Given the description of an element on the screen output the (x, y) to click on. 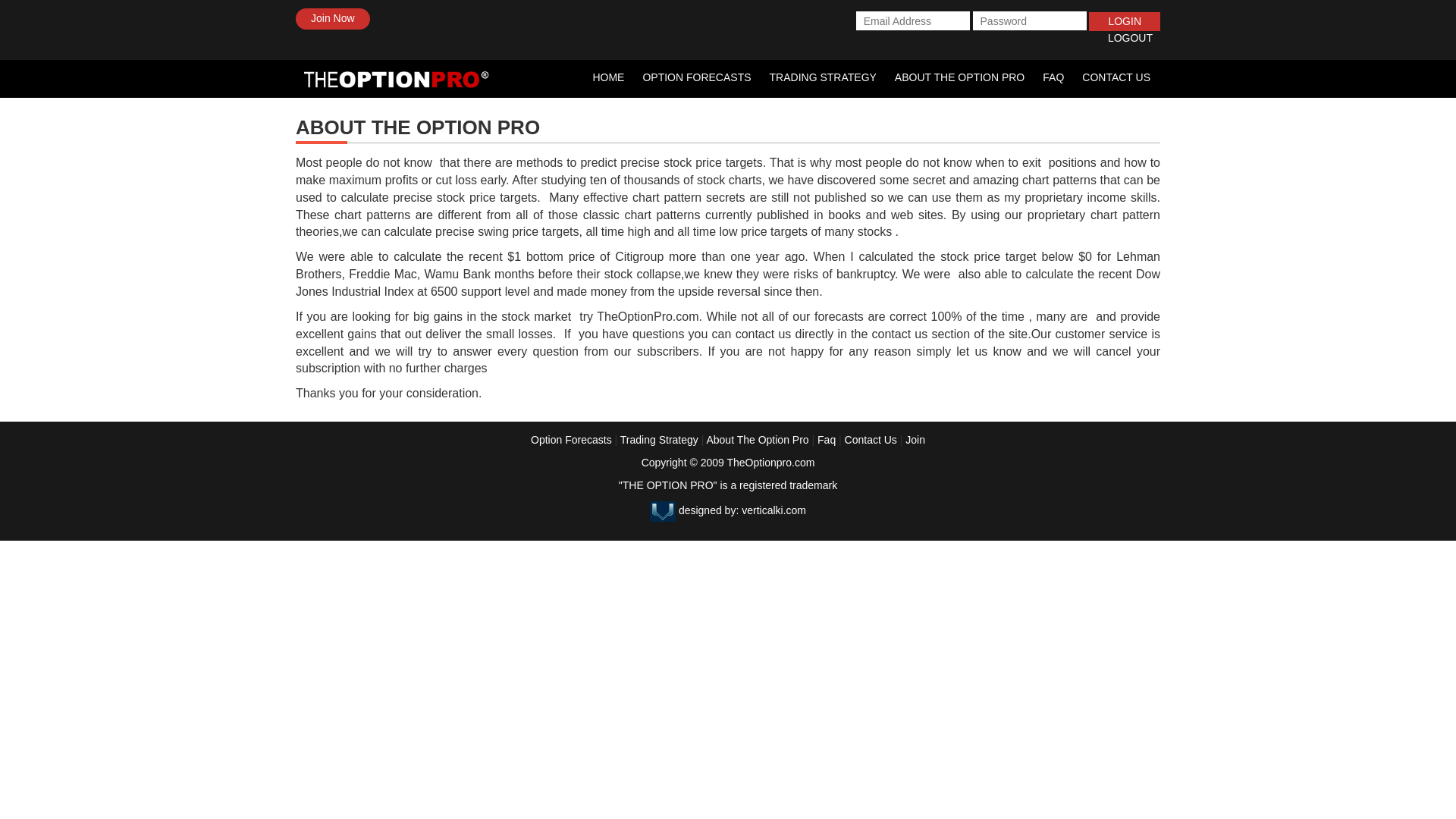
Trading Strategy (659, 439)
About The Option Pro (757, 439)
Join Now (332, 18)
FAQ (1053, 78)
Faq (825, 439)
Join (914, 439)
Login (1124, 21)
HOME (608, 78)
verticalki.com (773, 510)
ABOUT THE OPTION PRO (959, 78)
